Given the description of an element on the screen output the (x, y) to click on. 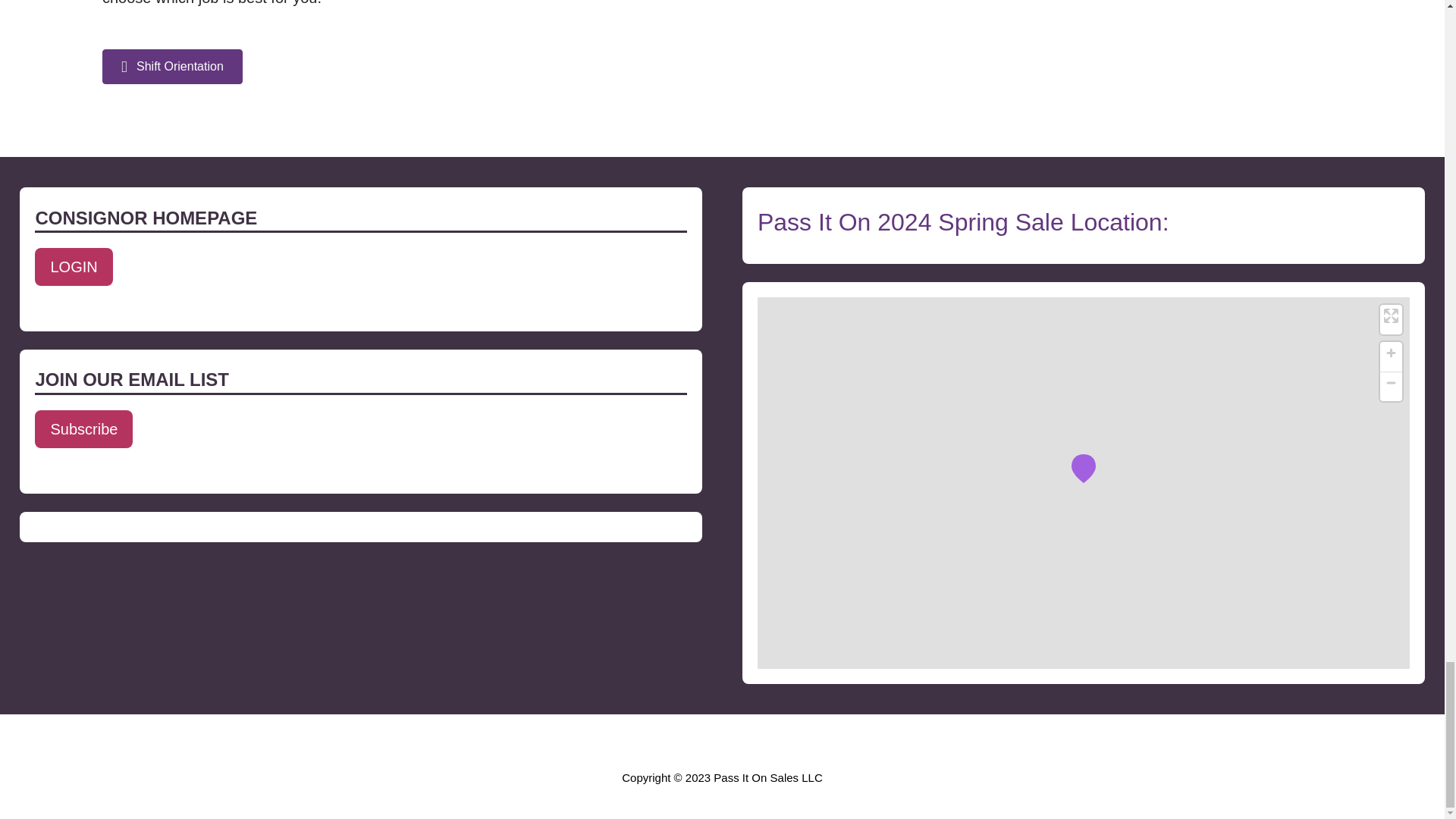
Enter fullscreen (1391, 315)
Zoom out (1391, 382)
LOGIN (73, 266)
Subscribe (83, 428)
Shift Orientation (172, 67)
Zoom in (1391, 352)
